Given the description of an element on the screen output the (x, y) to click on. 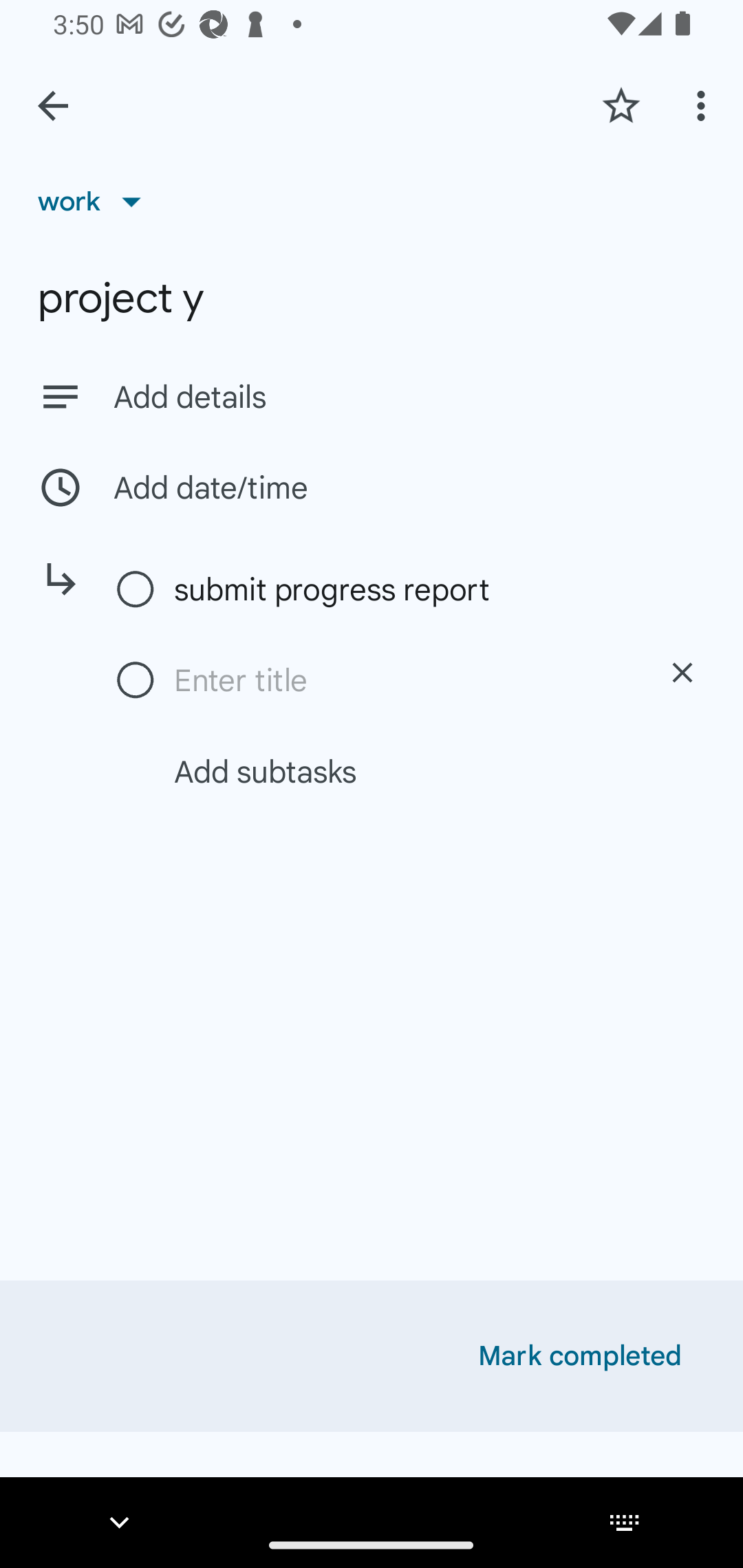
Back (53, 105)
Add star (620, 105)
More options (704, 105)
work List, work selected, 1 of 19 (95, 201)
project y (371, 298)
Add details (371, 396)
Add details (409, 397)
Add date/time (371, 487)
submit progress report (401, 589)
Mark as complete (136, 590)
Enter title (401, 680)
Delete subtask (682, 672)
Mark as complete (136, 681)
Add subtasks (394, 770)
Mark completed (580, 1355)
